Given the description of an element on the screen output the (x, y) to click on. 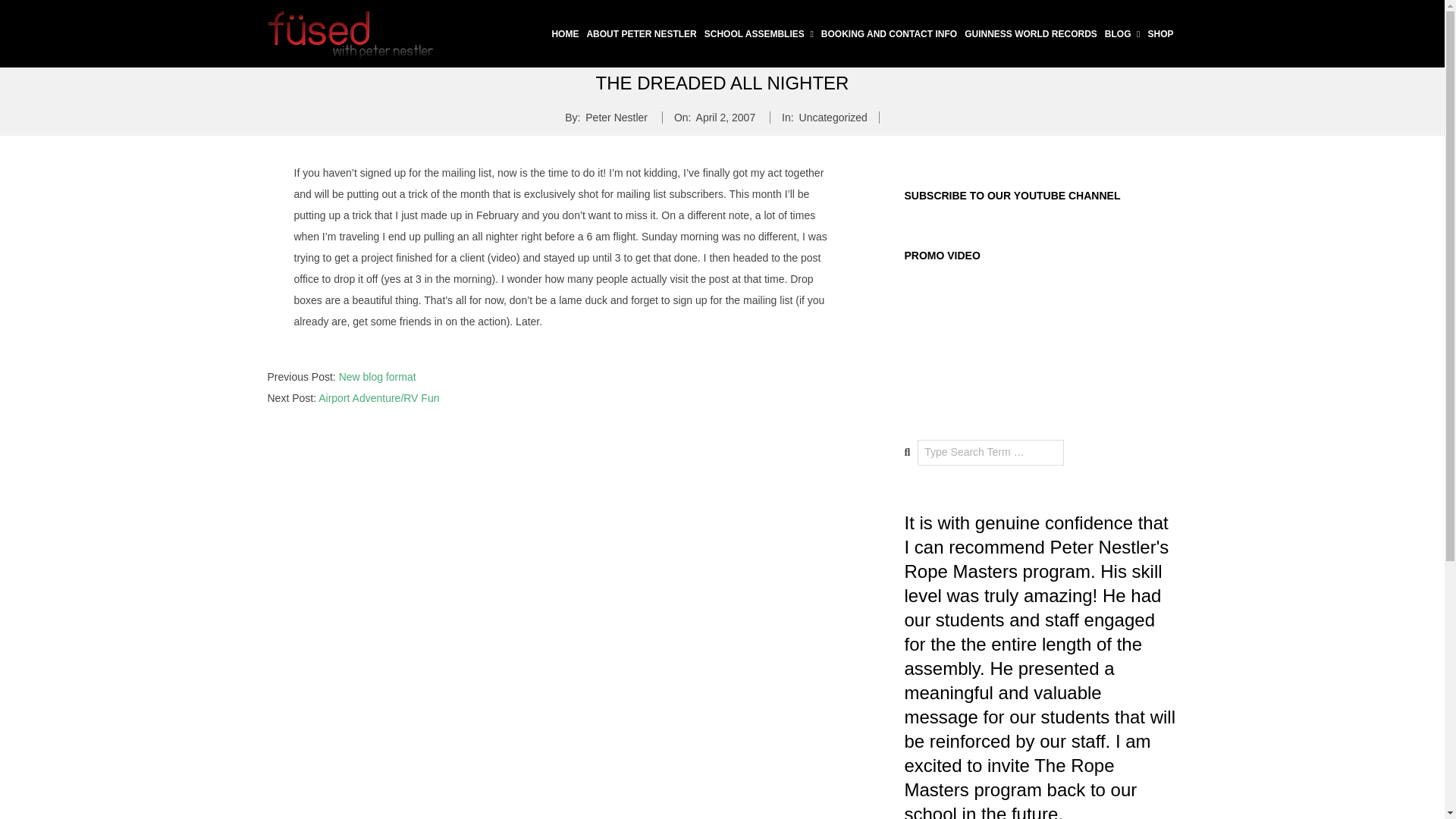
BLOG (1122, 34)
Peter Nestler (616, 117)
SCHOOL ASSEMBLIES (758, 34)
New blog format (377, 377)
ABOUT PETER NESTLER (641, 34)
BOOKING AND CONTACT INFO (888, 34)
Monday, April 2, 2007, 12:00 am (725, 117)
Posts by Peter Nestler (616, 117)
GUINNESS WORLD RECORDS (1030, 34)
